Given the description of an element on the screen output the (x, y) to click on. 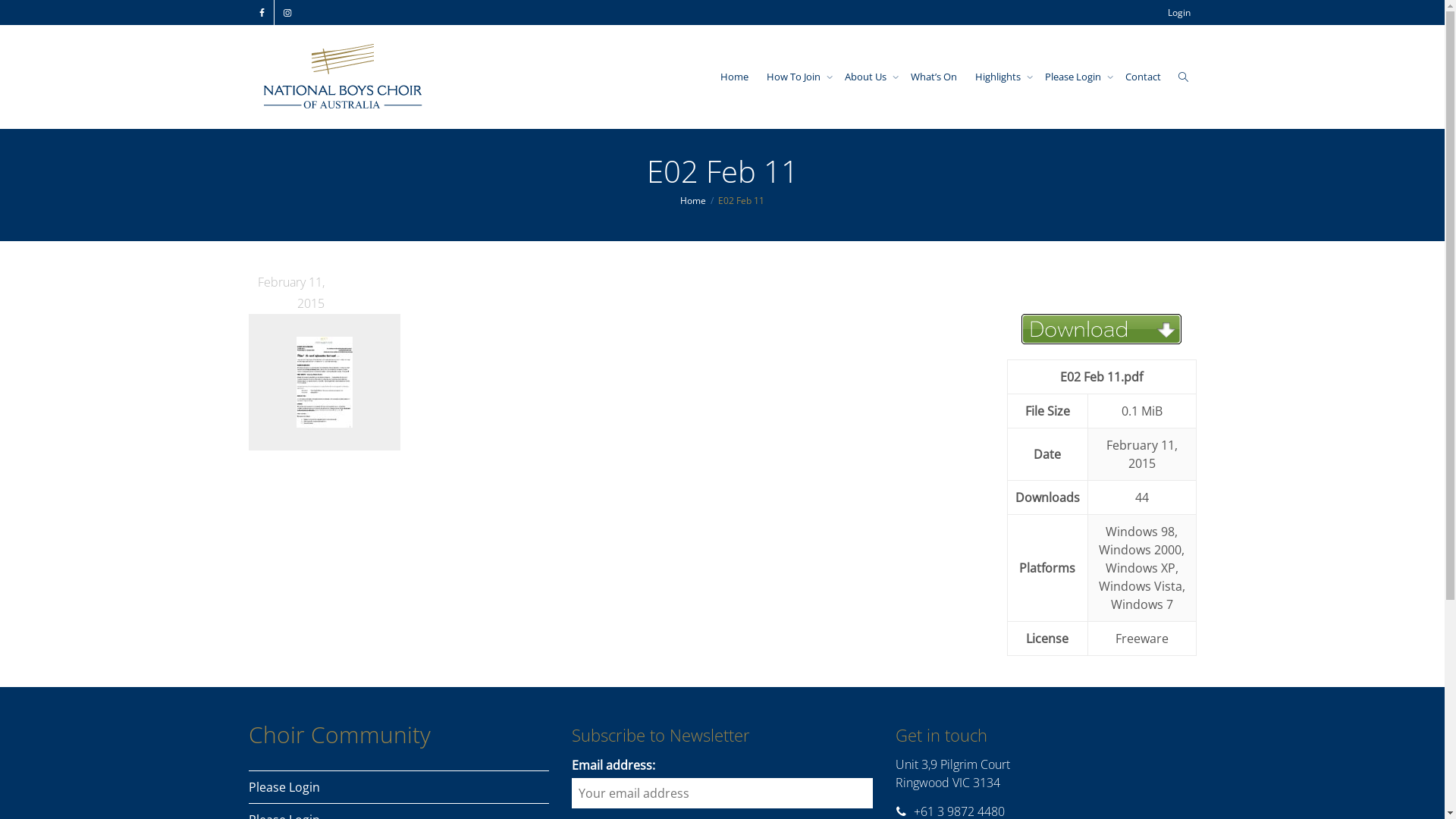
Please Login Element type: text (398, 786)
Highlights Element type: text (1000, 76)
How To Join Element type: text (795, 76)
About Us Element type: text (868, 76)
Home Element type: text (734, 76)
National Boys Choir of Australia Element type: hover (343, 76)
Login Element type: text (1178, 12)
Please Login Element type: text (1075, 76)
February 11, 2015 Element type: text (286, 302)
Contact Element type: text (1143, 76)
Home Element type: text (693, 200)
